Given the description of an element on the screen output the (x, y) to click on. 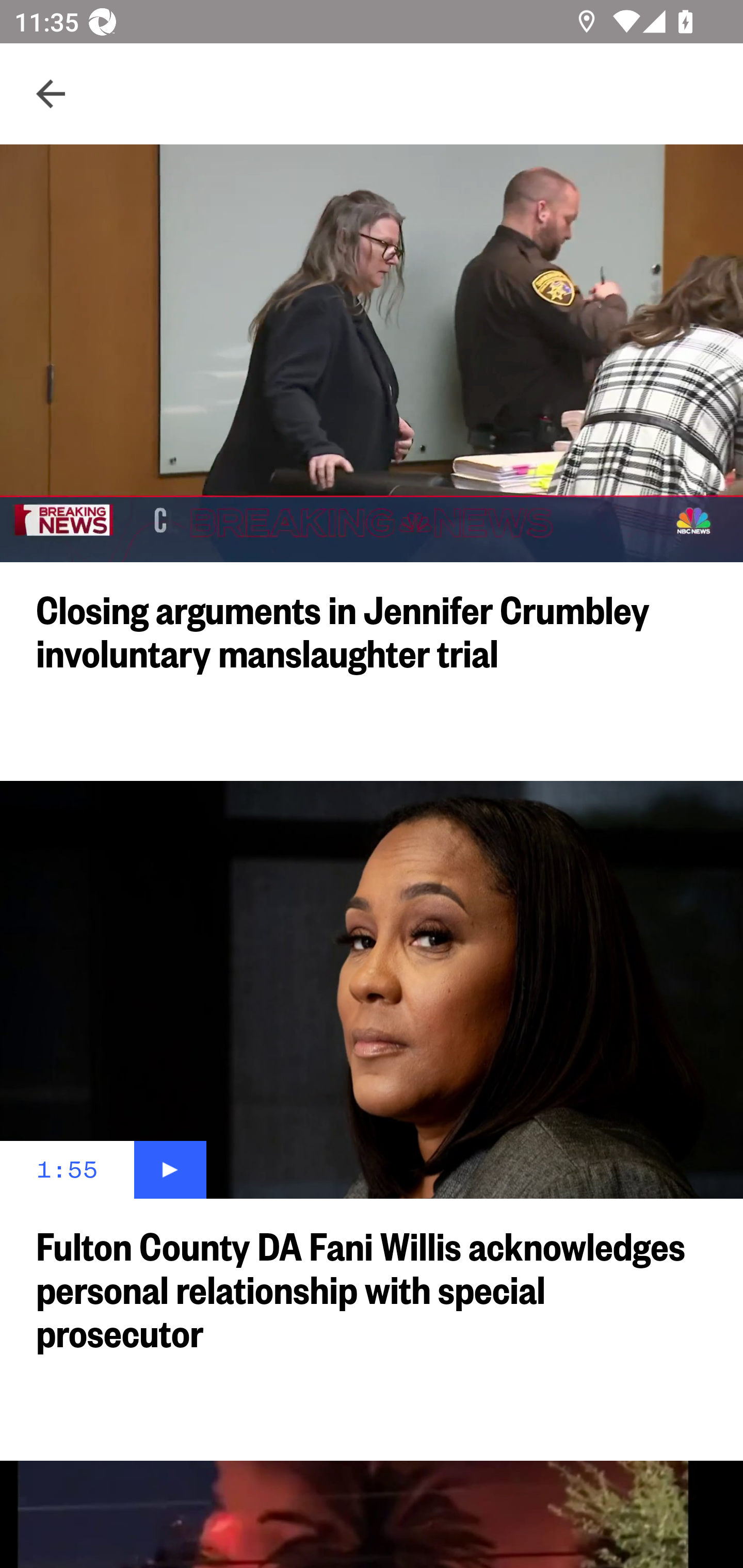
Navigate up (50, 93)
